Given the description of an element on the screen output the (x, y) to click on. 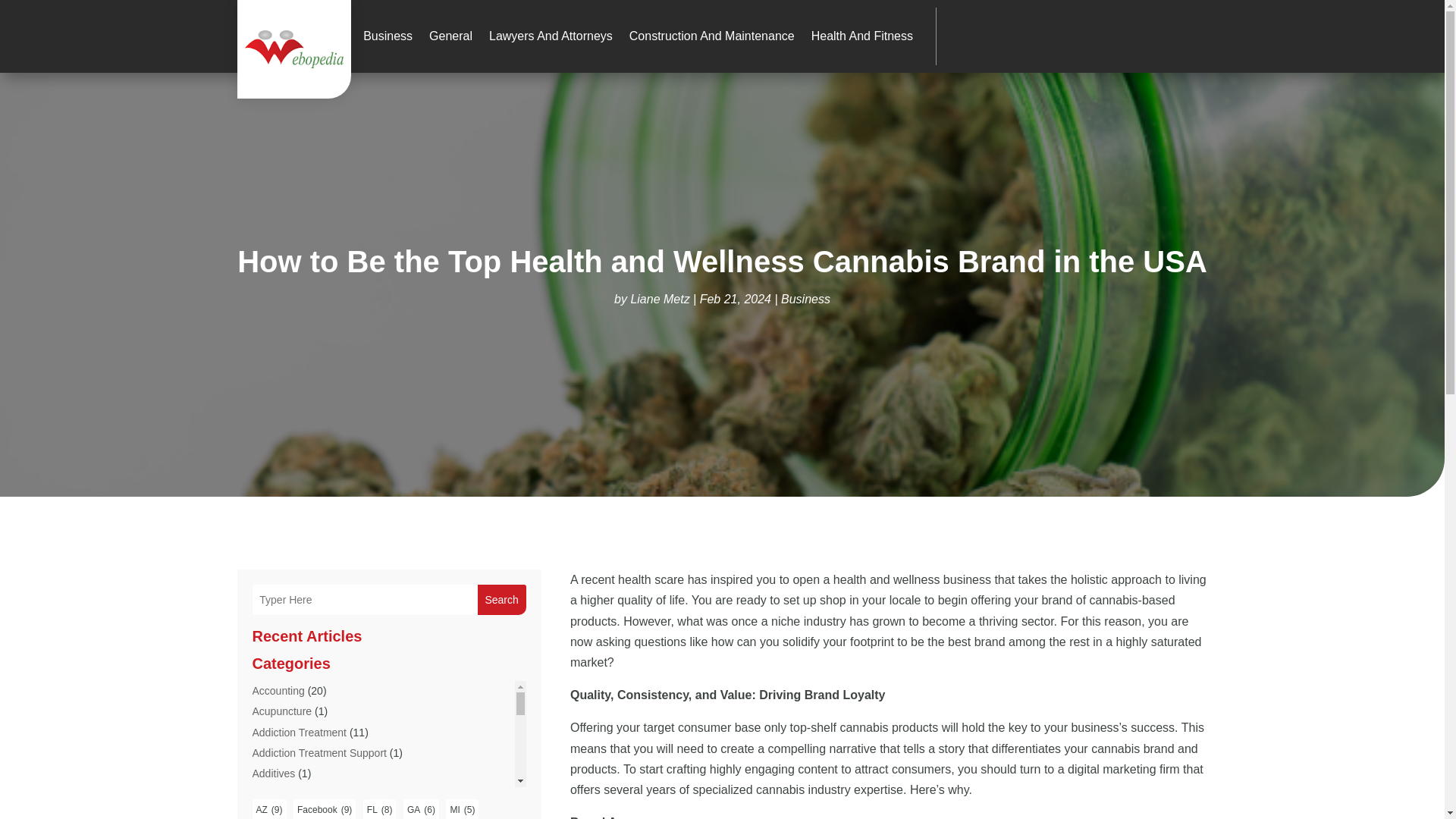
Addiction Treatment Support (318, 752)
Posts by Liane Metz (659, 298)
Acupuncture (281, 711)
Construction And Maintenance (711, 36)
Lawyers And Attorneys (550, 36)
Liane Metz (659, 298)
Additives (273, 773)
Accounting (277, 690)
Adhesives (276, 793)
Search (501, 599)
Addiction Treatment (298, 732)
Business (804, 298)
Health And Fitness (861, 36)
Adoption (272, 813)
